Given the description of an element on the screen output the (x, y) to click on. 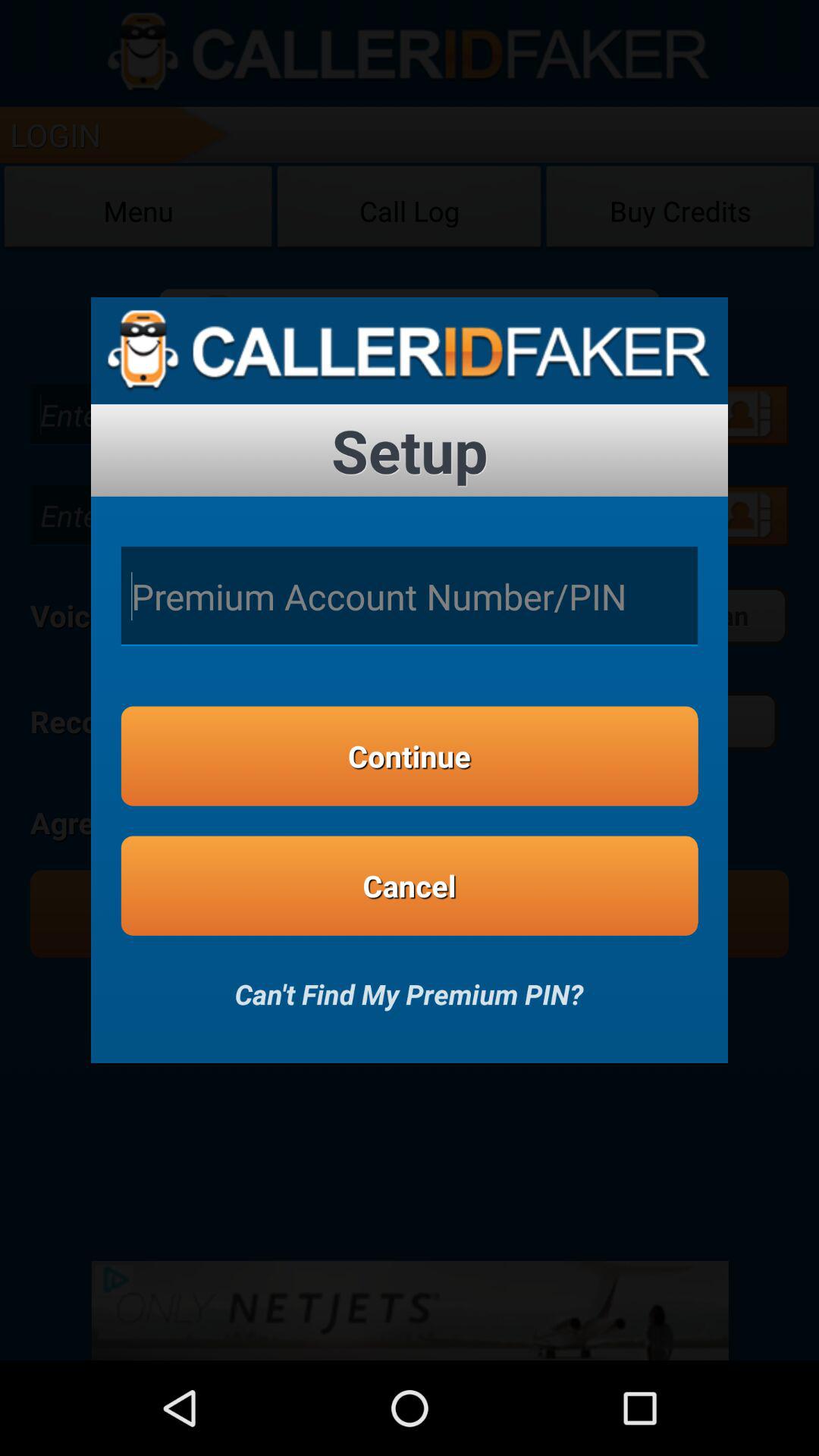
turn on the continue button (409, 755)
